Given the description of an element on the screen output the (x, y) to click on. 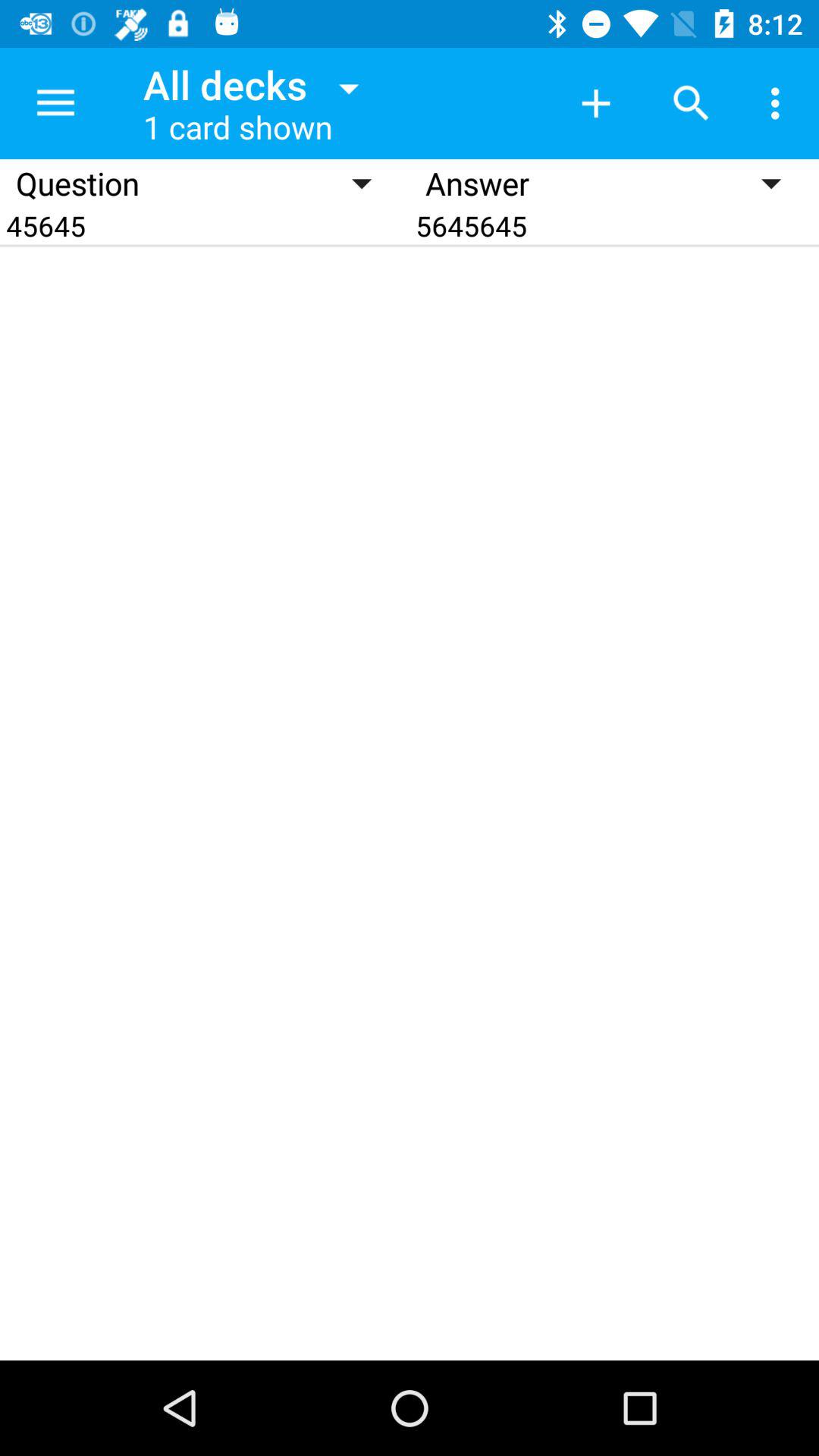
open the 45645 icon (204, 225)
